Given the description of an element on the screen output the (x, y) to click on. 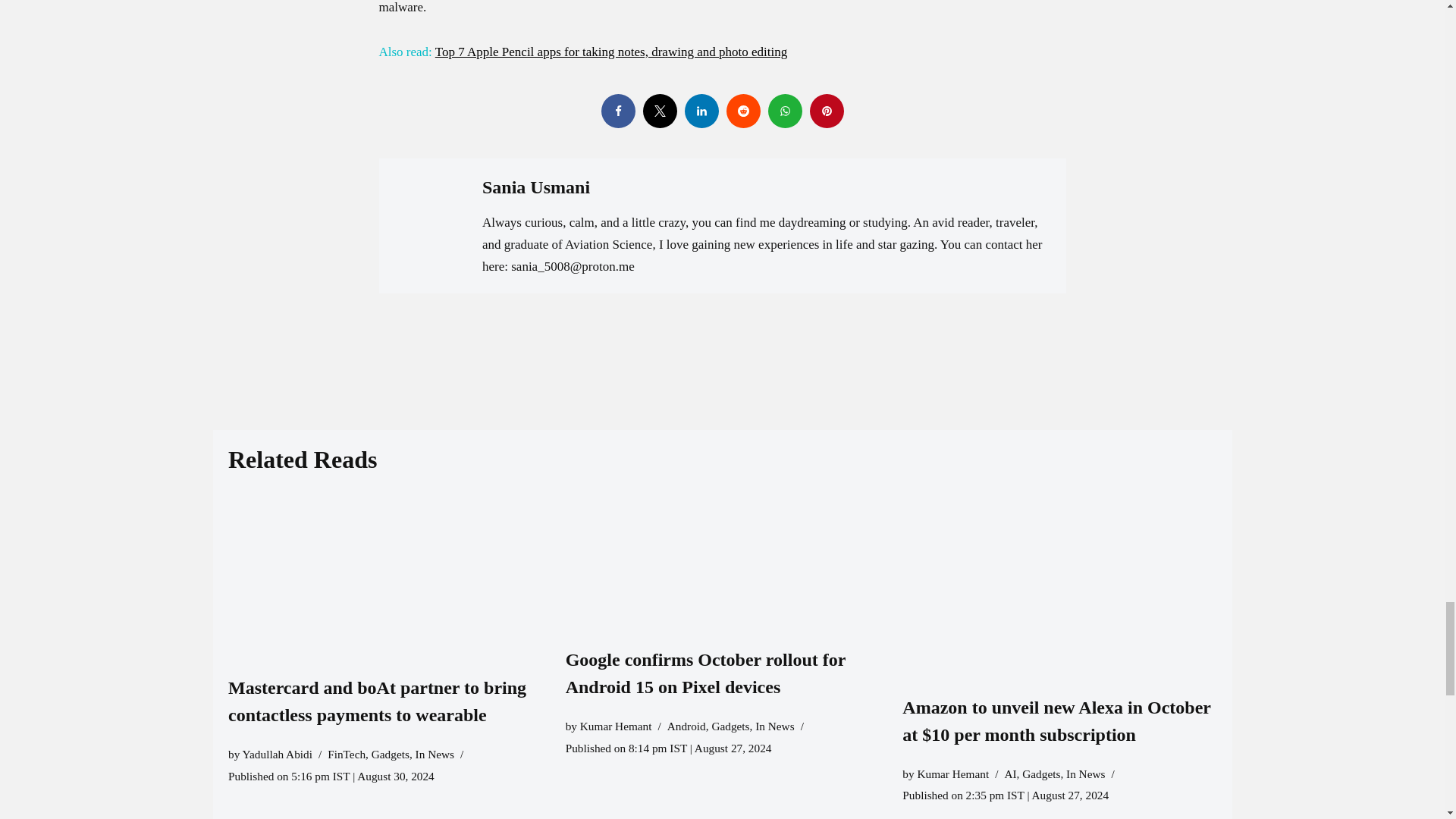
Whatsapp (784, 110)
Linkedin (700, 110)
Twitter (660, 110)
Pinterest (826, 110)
Facebook (616, 110)
Reddit (743, 110)
